Given the description of an element on the screen output the (x, y) to click on. 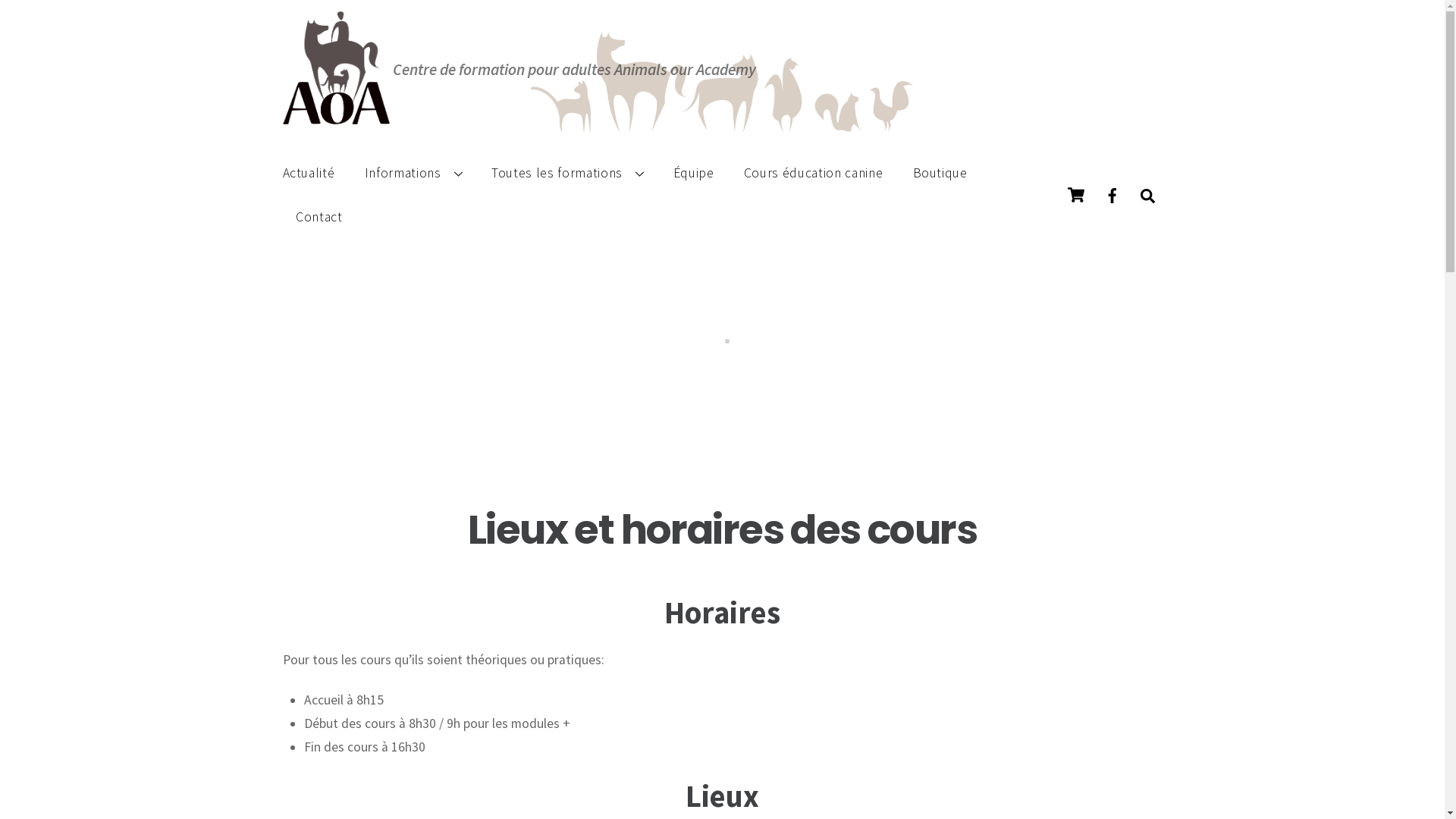
Informations Element type: text (413, 173)
Toutes les formations Element type: text (567, 173)
Logo Animals Our Academy (AOA) Element type: hover (335, 67)
Contact Element type: text (318, 217)
AoA Formation Element type: hover (335, 116)
Panier Element type: text (1075, 194)
Chercher Element type: text (1147, 195)
Boutique Element type: text (939, 173)
